Given the description of an element on the screen output the (x, y) to click on. 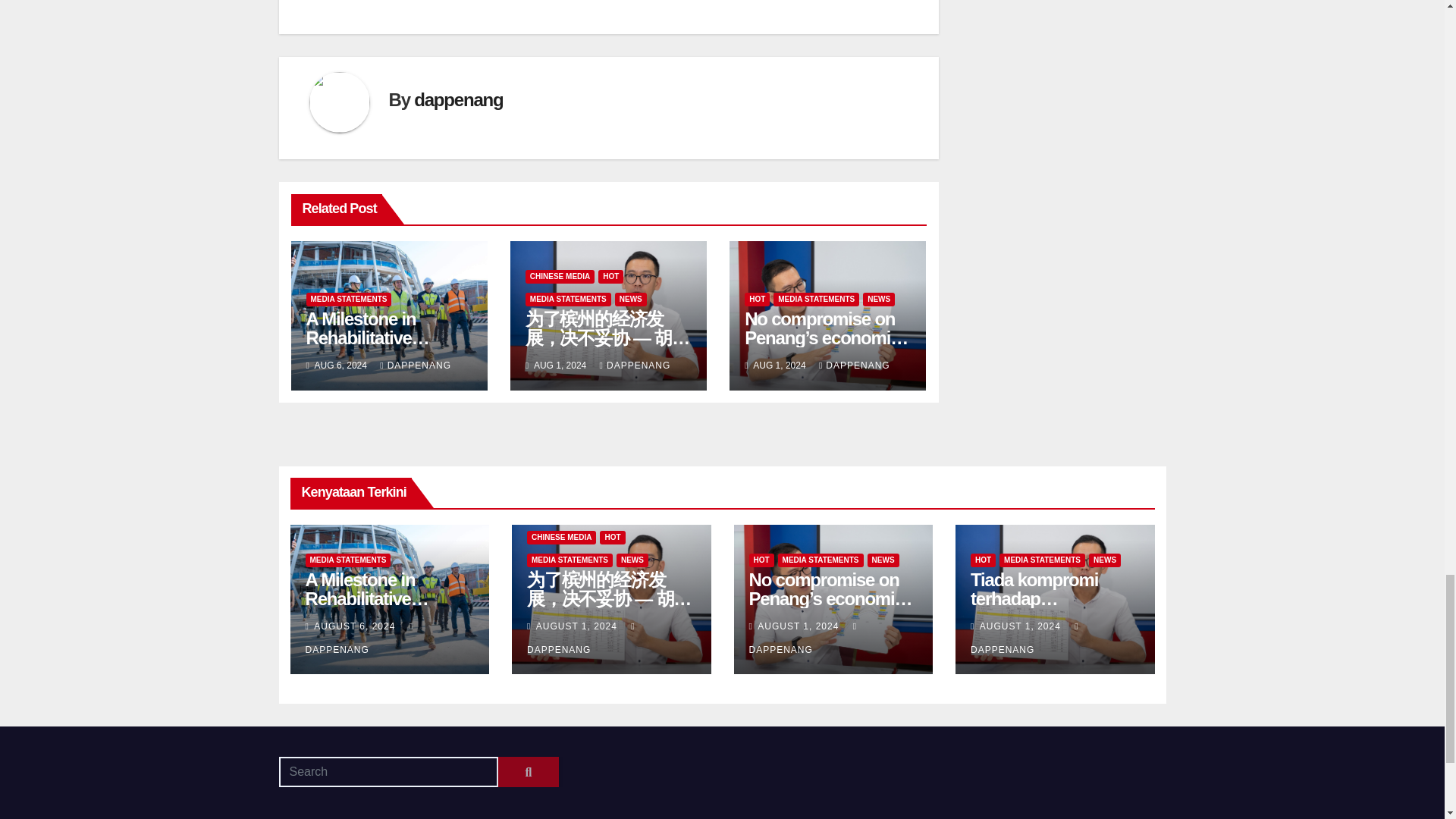
dappenang (457, 99)
CHINESE MEDIA (559, 276)
DAPPENANG (635, 365)
MEDIA STATEMENTS (348, 299)
MEDIA STATEMENTS (568, 299)
HOT (610, 276)
DAPPENANG (415, 365)
